Given the description of an element on the screen output the (x, y) to click on. 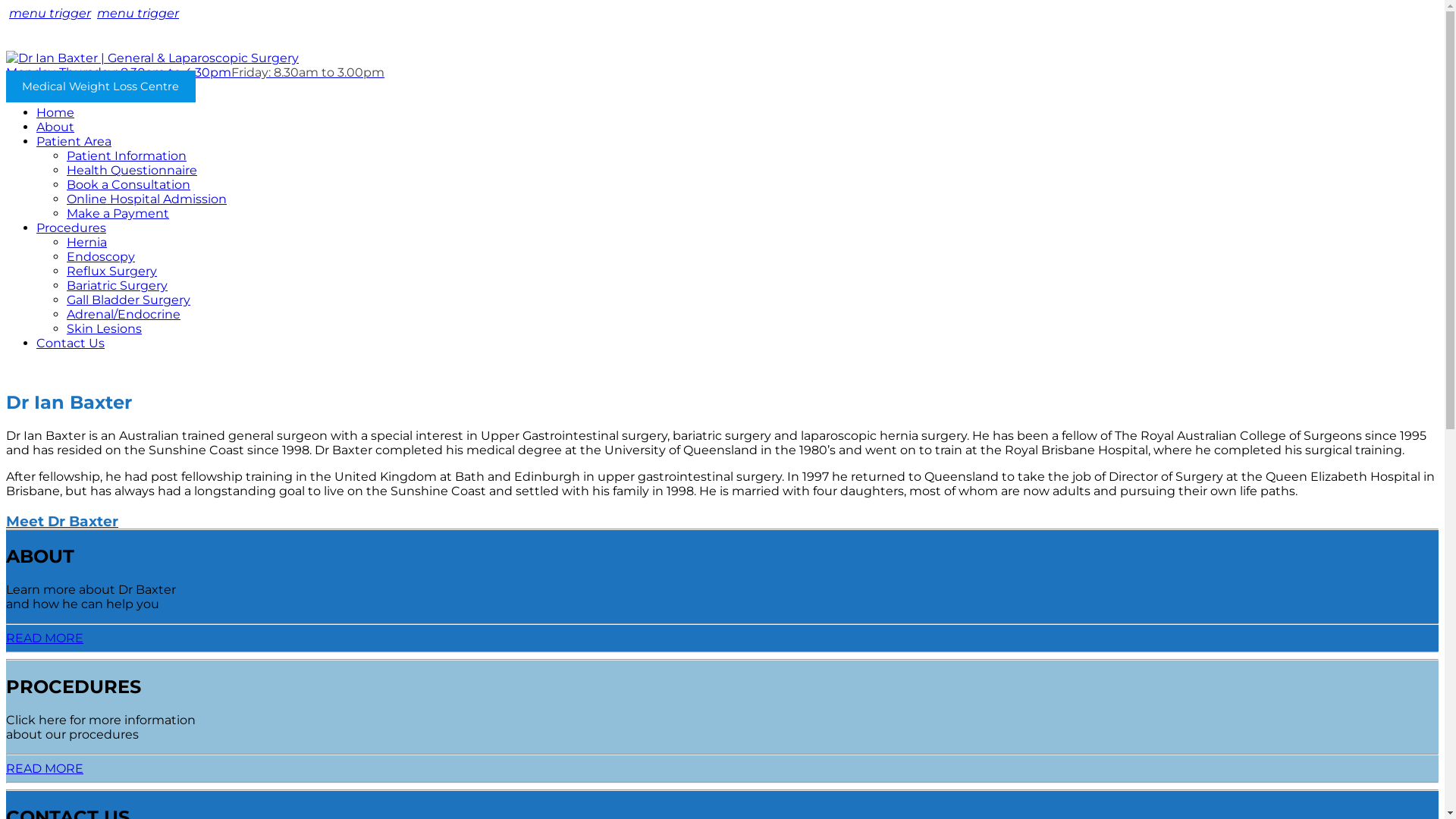
Medical Weight Loss Centre Element type: text (100, 86)
Book a Consultation Element type: text (128, 184)
Online Hospital Admission Element type: text (146, 198)
Contact Us Element type: text (70, 342)
Patient Information Element type: text (126, 155)
Make a Payment Element type: text (117, 213)
Monday-Thursday: 8.30am to 4.30pmFriday: 8.30am to 3.00pm Element type: text (195, 72)
Endoscopy Element type: text (100, 256)
Patient Area Element type: text (73, 141)
Gall Bladder Surgery Element type: text (128, 299)
Home Element type: text (55, 112)
READ MORE Element type: text (44, 768)
READ MORE Element type: text (44, 637)
Bariatric Surgery Element type: text (116, 285)
Meet Dr Baxter Element type: text (62, 521)
menu trigger Element type: text (137, 13)
Health Questionnaire Element type: text (131, 170)
About Element type: text (55, 126)
Skin Lesions Element type: text (103, 328)
Hernia Element type: text (86, 242)
Procedures Element type: text (71, 227)
Adrenal/Endocrine Element type: text (123, 314)
Reflux Surgery Element type: text (111, 270)
menu trigger Element type: text (50, 13)
